Given the description of an element on the screen output the (x, y) to click on. 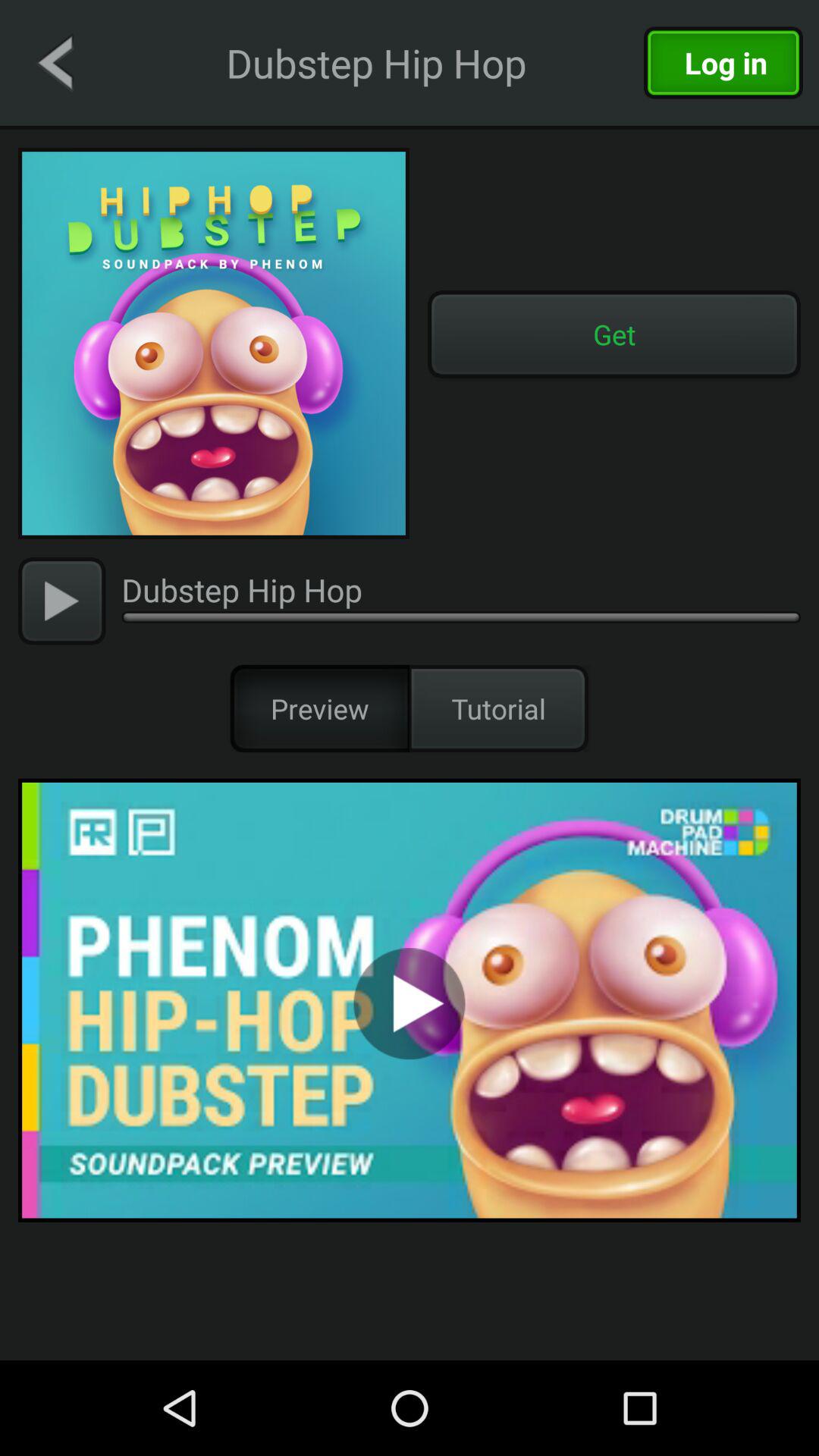
choose the icon to the left of the tutorial icon (319, 708)
